Given the description of an element on the screen output the (x, y) to click on. 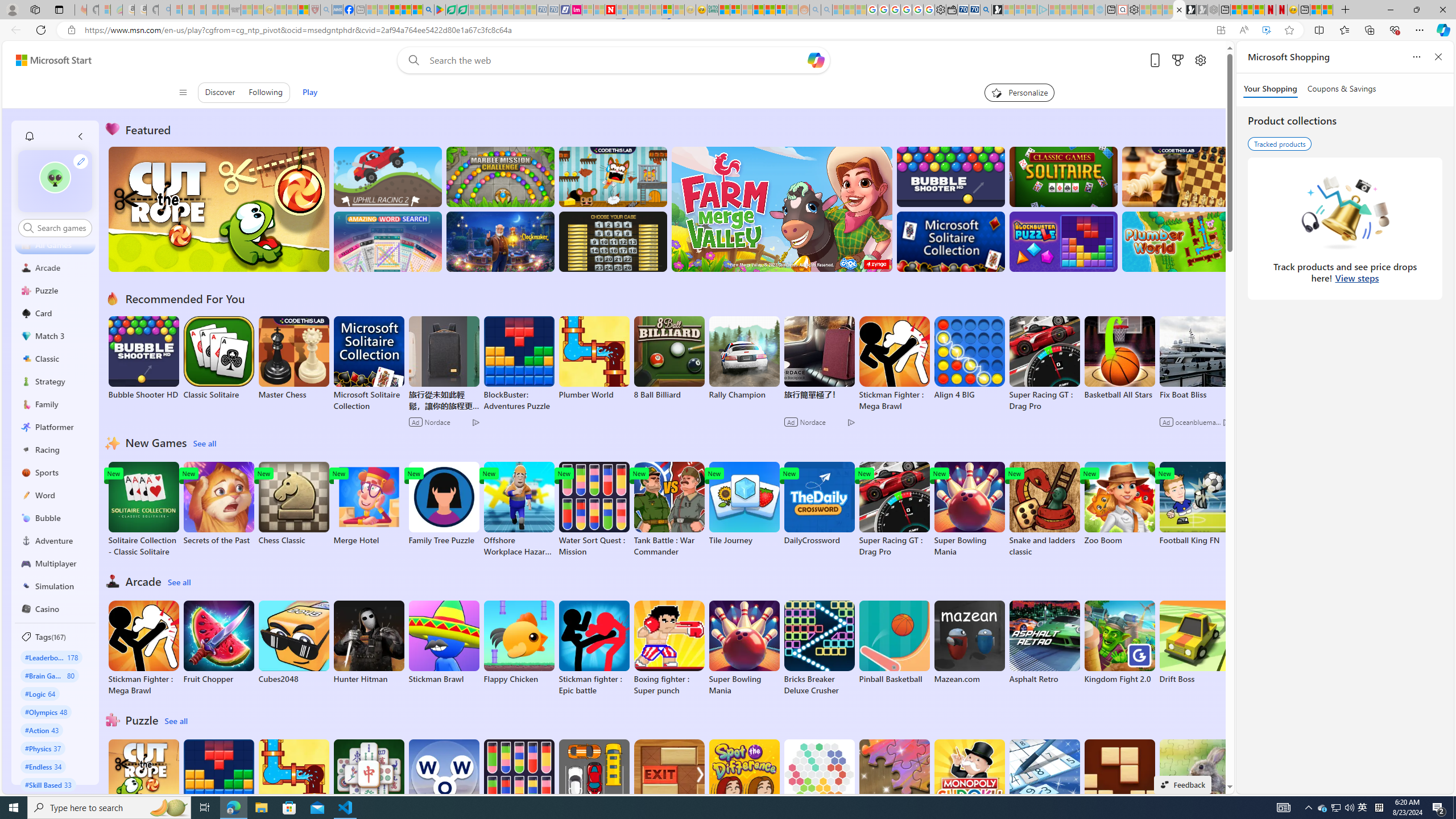
Secrets of the Past (218, 503)
8 Ball Billiard (668, 358)
Hunter Hitman (368, 642)
Wildlife - MSN (1315, 9)
Pinball Basketball (894, 642)
Jobs - lastminute.com Investor Portal (576, 9)
